Given the description of an element on the screen output the (x, y) to click on. 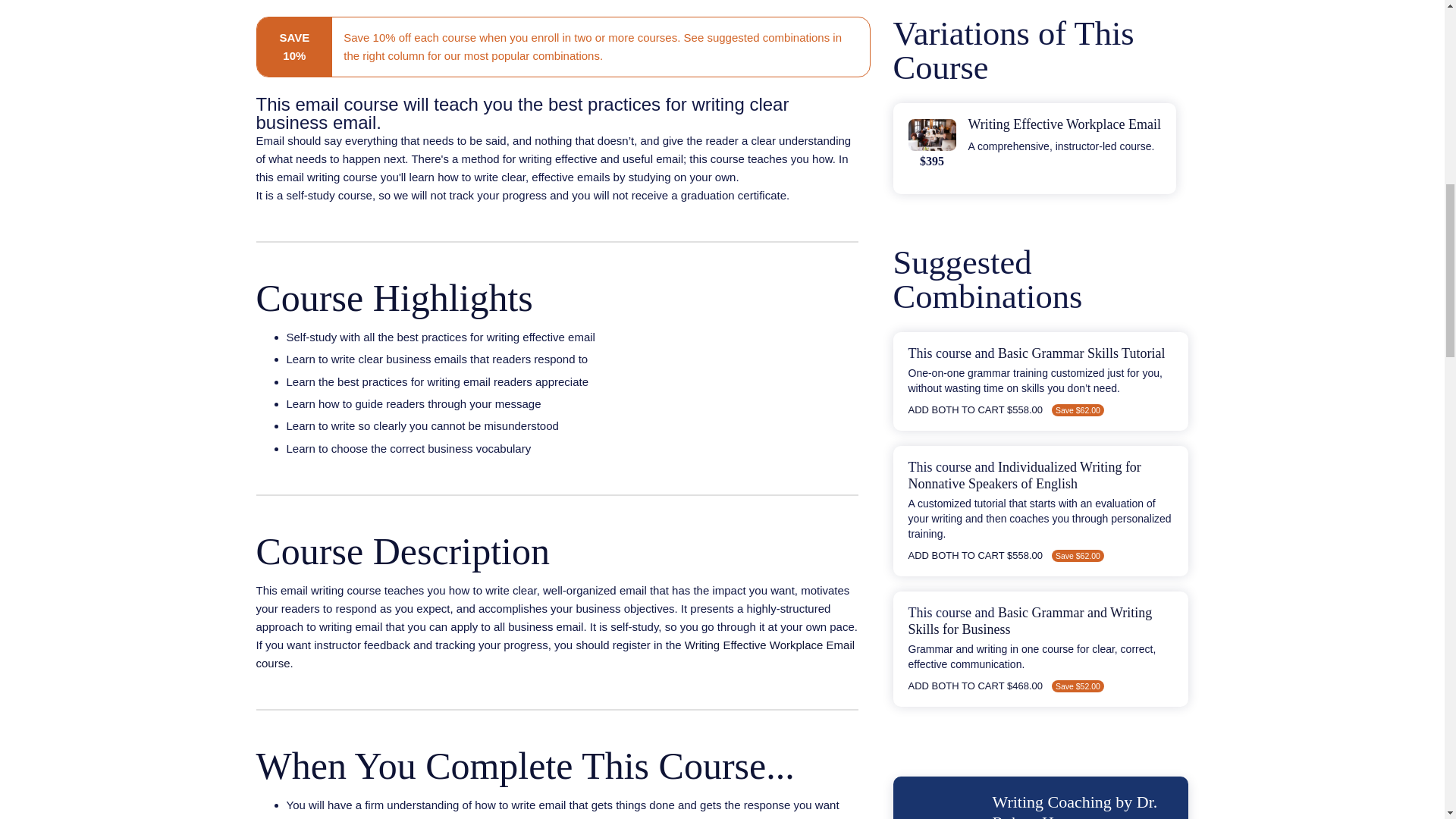
Basic Grammar and Writing Skills for Business (1030, 621)
Writing Effective Workplace Email course. (556, 653)
Basic Grammar Skills Tutorial (1081, 353)
Individualized Writing for Nonnative Speakers of English (1024, 475)
